Given the description of an element on the screen output the (x, y) to click on. 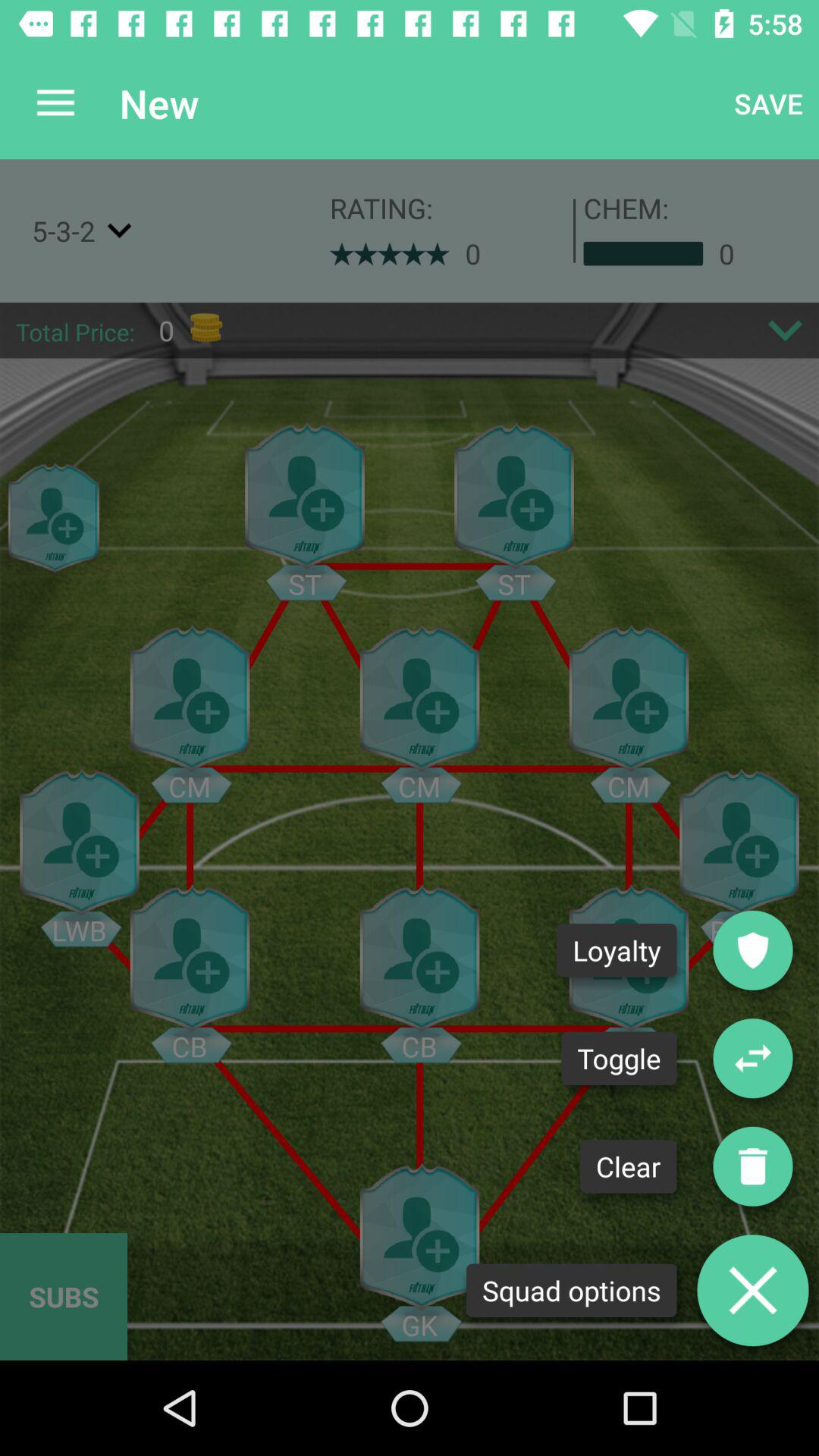
go to delete option (753, 1290)
